Given the description of an element on the screen output the (x, y) to click on. 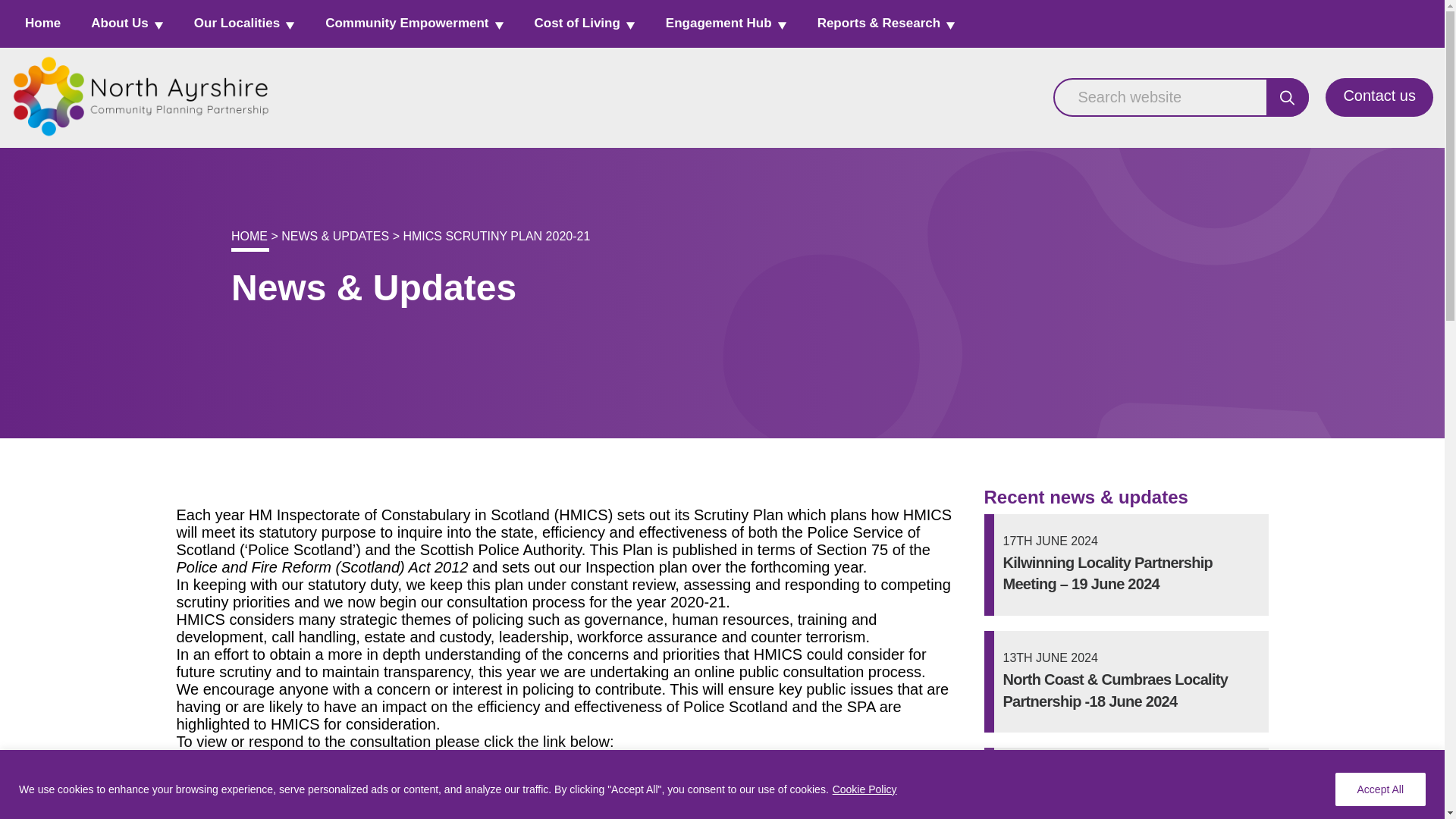
Accept All (1380, 788)
Cost of Living (584, 23)
Engagement Hub (726, 23)
About Us (126, 23)
Our Localities (244, 23)
Community Empowerment (413, 23)
Cookie Policy (864, 789)
Skip to content (725, 42)
search button (1287, 97)
Home (42, 23)
